Given the description of an element on the screen output the (x, y) to click on. 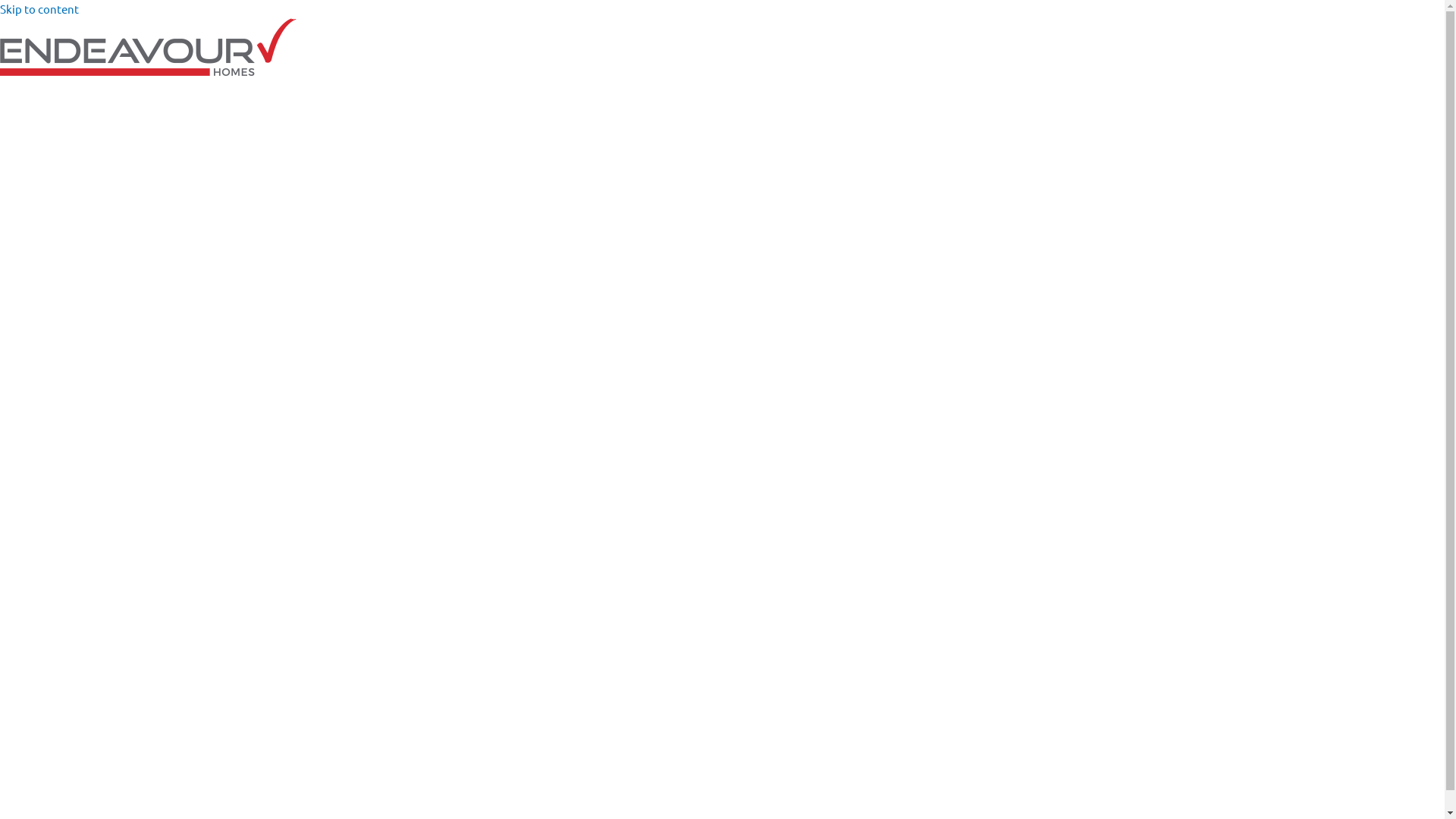
Skip to content Element type: text (39, 8)
